Given the description of an element on the screen output the (x, y) to click on. 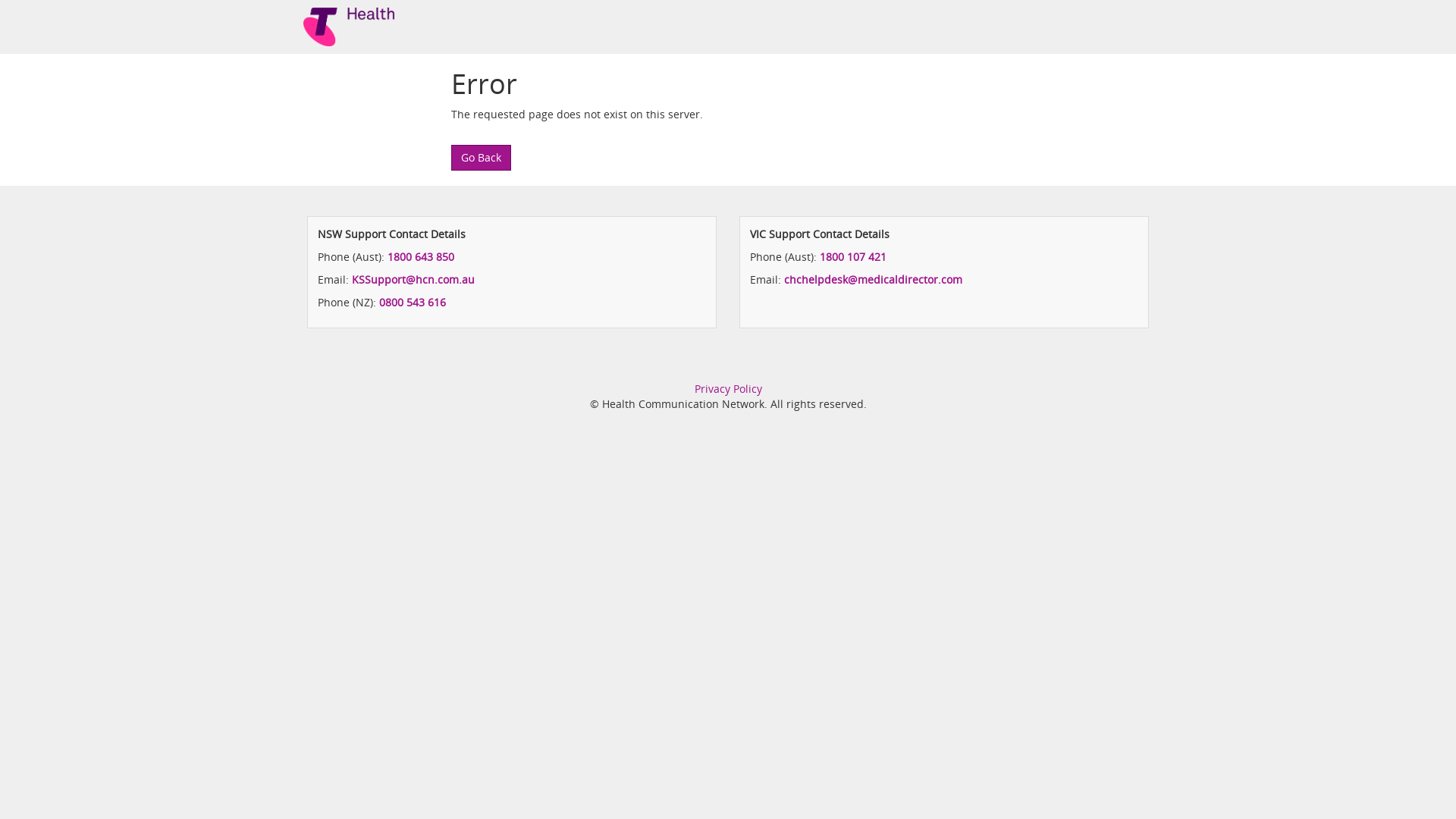
1800 643 850 Element type: text (420, 256)
Go Back Element type: text (481, 157)
chchelpdesk@medicaldirector.com Element type: text (873, 279)
Privacy Policy Element type: text (728, 388)
1800 107 421 Element type: text (852, 256)
0800 543 616 Element type: text (412, 301)
KSSupport@hcn.com.au Element type: text (412, 279)
